Given the description of an element on the screen output the (x, y) to click on. 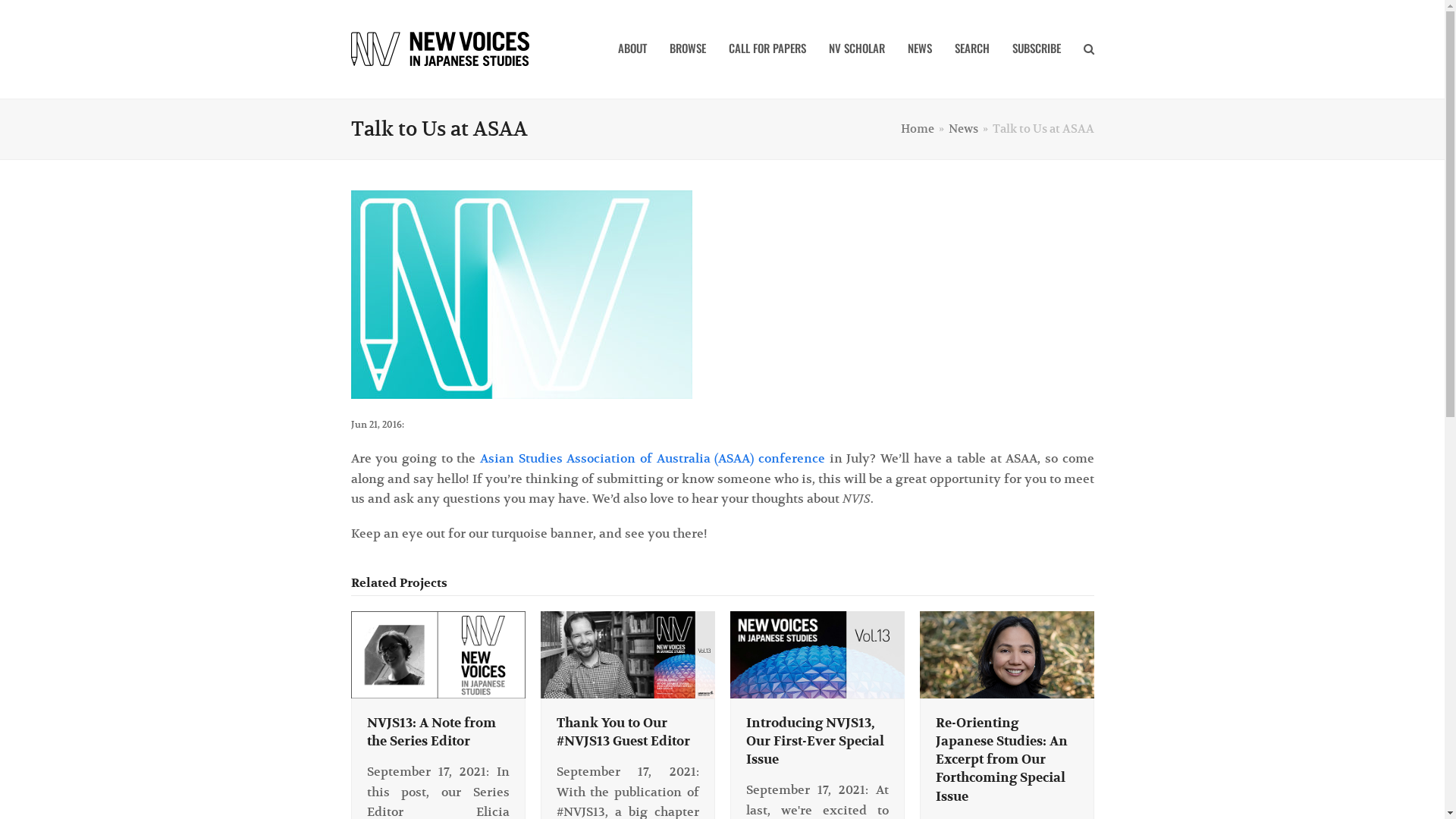
SEARCH Element type: text (972, 49)
Introducing NVJS13, Our First-Ever Special Issue Element type: text (815, 741)
NVJS13: A Note from the Series Editor Element type: text (431, 732)
ABOUT Element type: text (632, 49)
CALL FOR PAPERS Element type: text (767, 49)
BROWSE Element type: text (687, 49)
Thank You to Our #NVJS13 Guest Editor Element type: hover (626, 654)
Introducing NVJS13, Our First-Ever Special Issue Element type: hover (816, 654)
Home Element type: text (917, 128)
NEWS Element type: text (919, 49)
NVJS13: A Note from the Series Editor Element type: hover (437, 654)
NV SCHOLAR Element type: text (856, 49)
SUBSCRIBE Element type: text (1036, 49)
Thank You to Our #NVJS13 Guest Editor Element type: text (623, 732)
News Element type: text (962, 128)
Asian Studies Association of Australia (ASAA) conference Element type: text (652, 458)
